Given the description of an element on the screen output the (x, y) to click on. 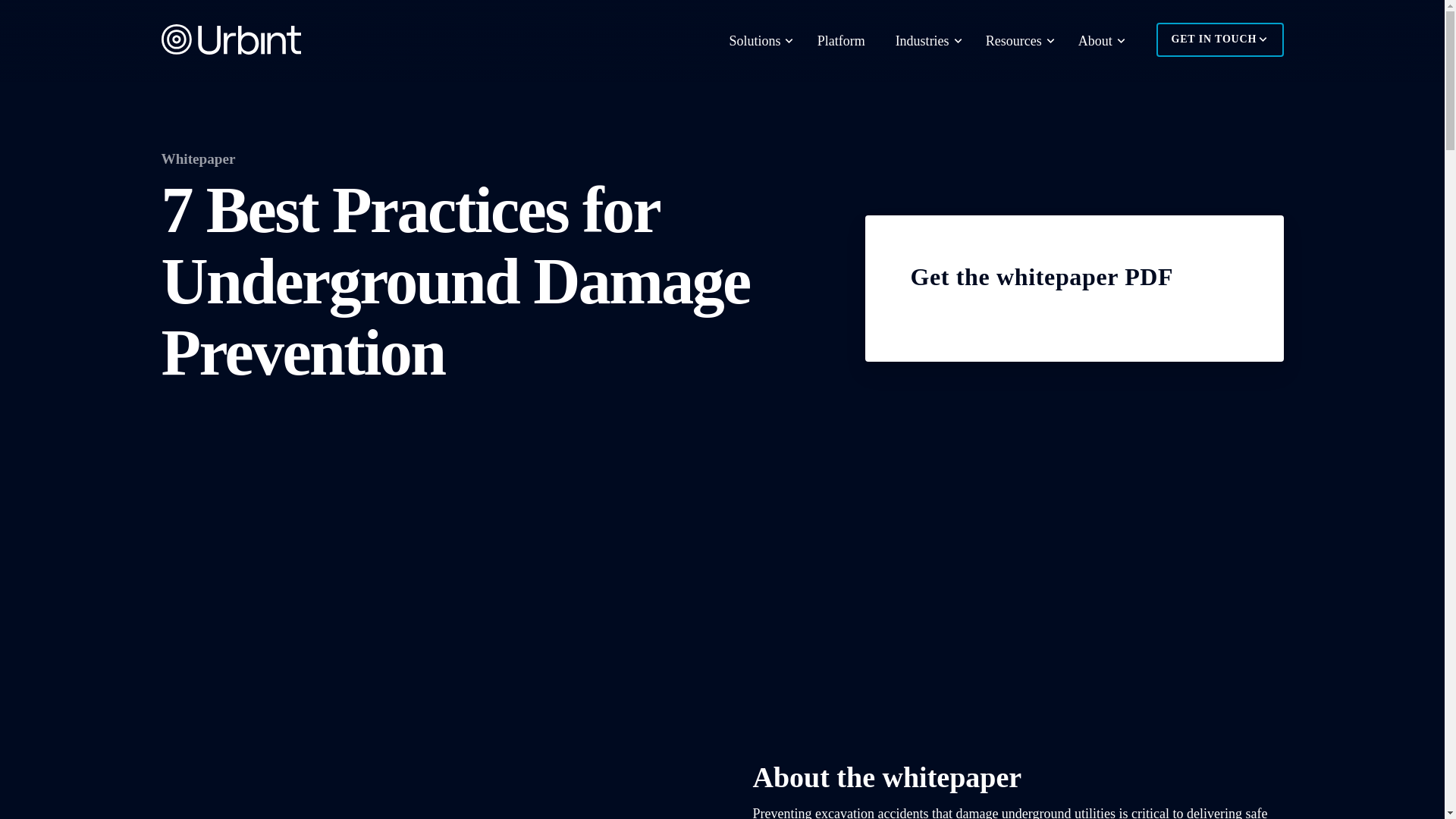
Platform (841, 40)
GET IN TOUCH (1220, 39)
Solutions (758, 40)
Industries (925, 40)
About (1098, 40)
Resources (1016, 40)
